Given the description of an element on the screen output the (x, y) to click on. 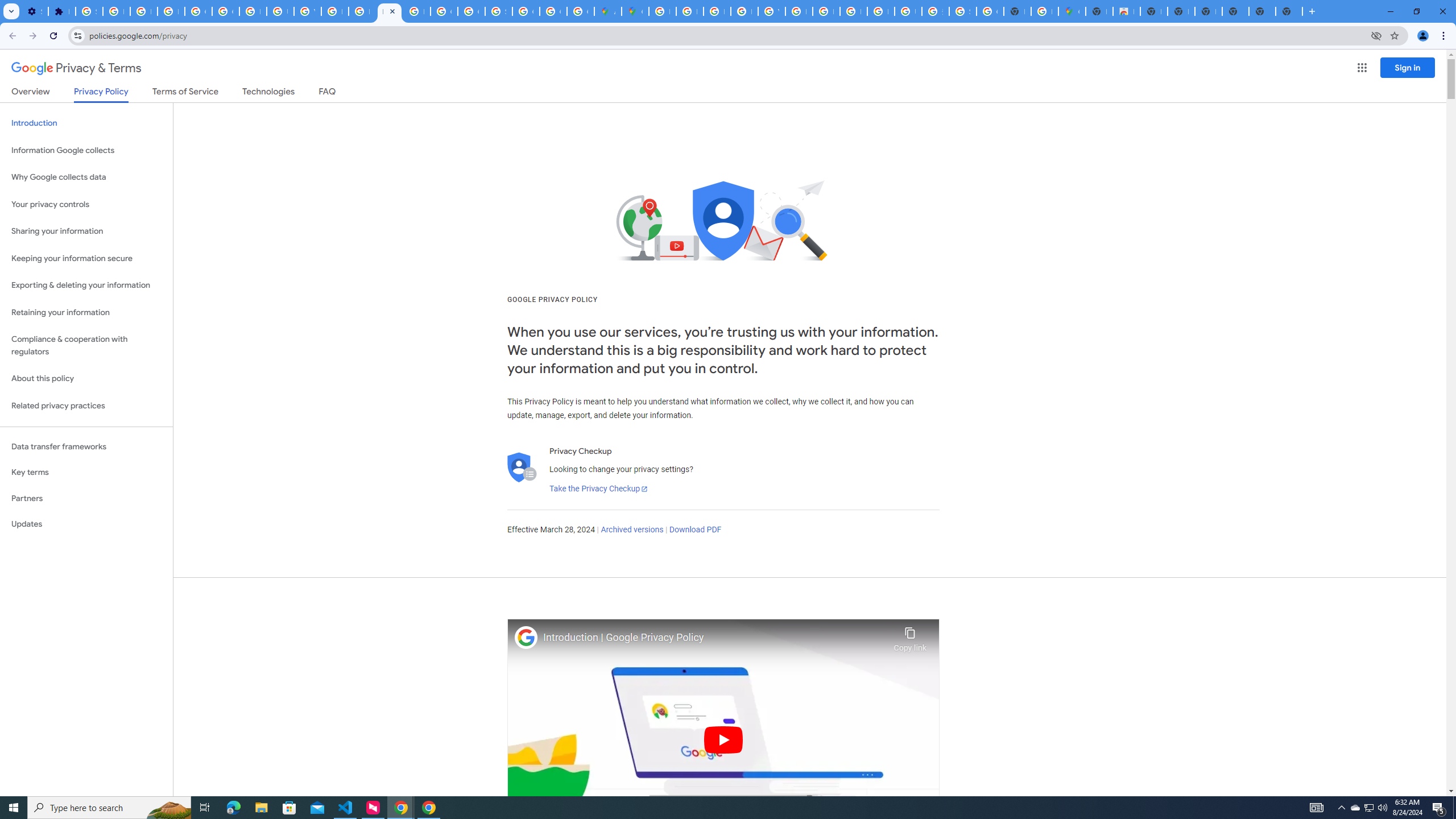
Settings - On startup (34, 11)
Privacy Help Center - Policies Help (690, 11)
Download PDF (695, 529)
Archived versions (631, 529)
Sharing your information (86, 230)
